Given the description of an element on the screen output the (x, y) to click on. 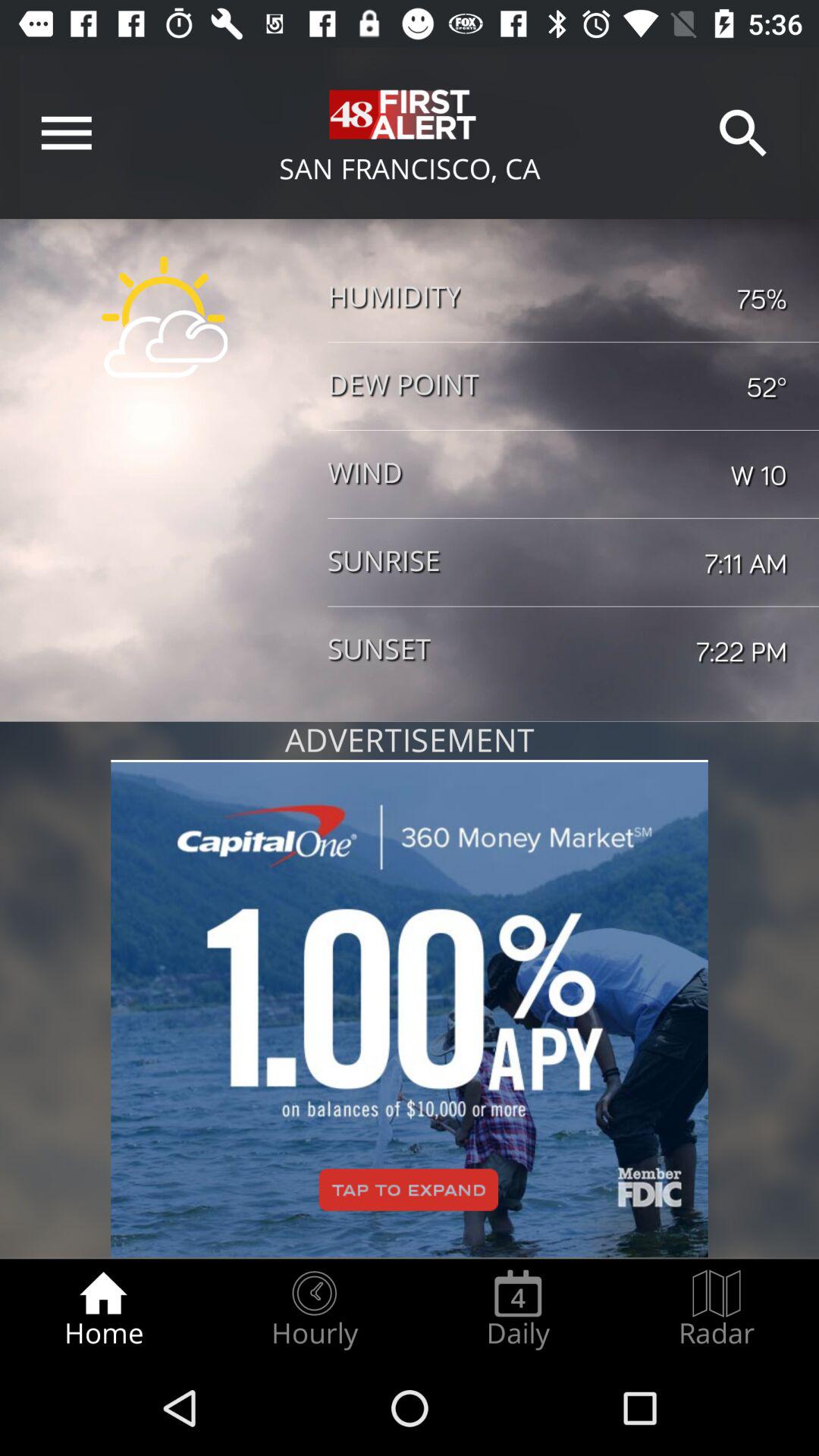
click on advertisement (409, 1008)
